Given the description of an element on the screen output the (x, y) to click on. 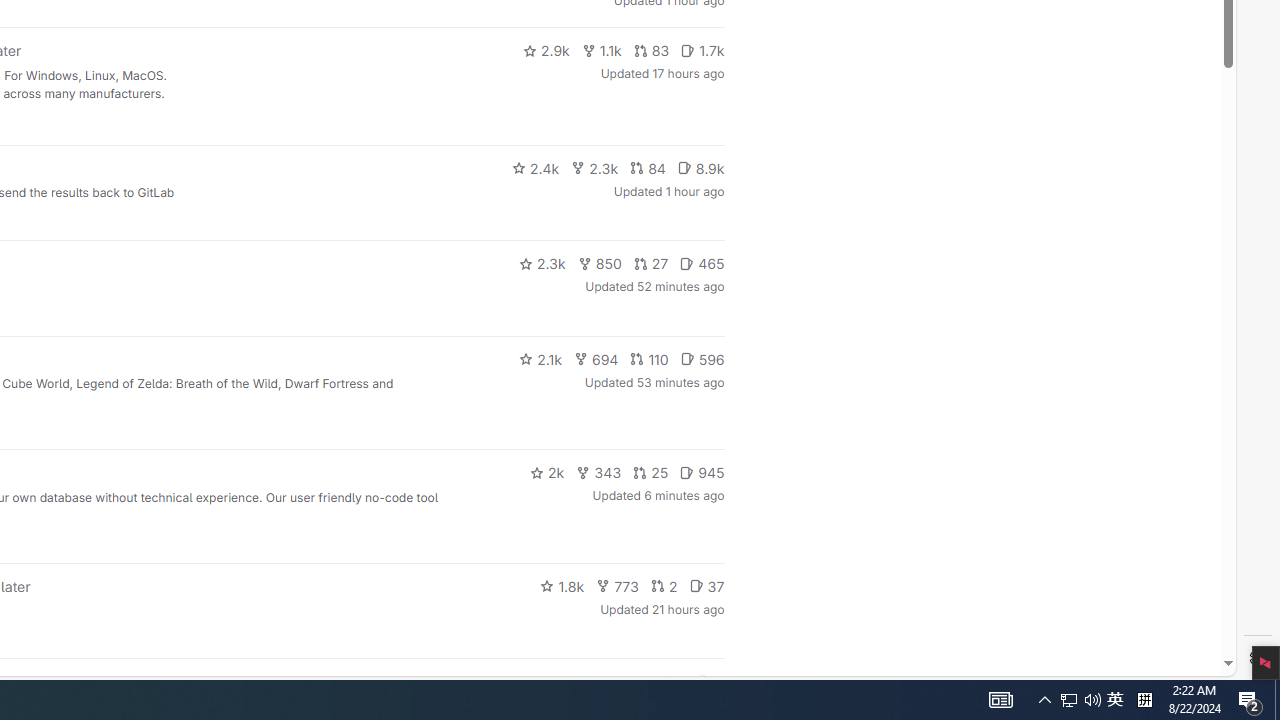
27 (651, 263)
110 (649, 358)
2.3k (541, 263)
37 (706, 585)
1.8k (562, 585)
2.1k (539, 358)
596 (701, 358)
2k (546, 472)
945 (701, 472)
850 (599, 263)
2.4k (535, 167)
25 (651, 472)
2.9k (545, 50)
2 (664, 585)
83 (651, 50)
